Given the description of an element on the screen output the (x, y) to click on. 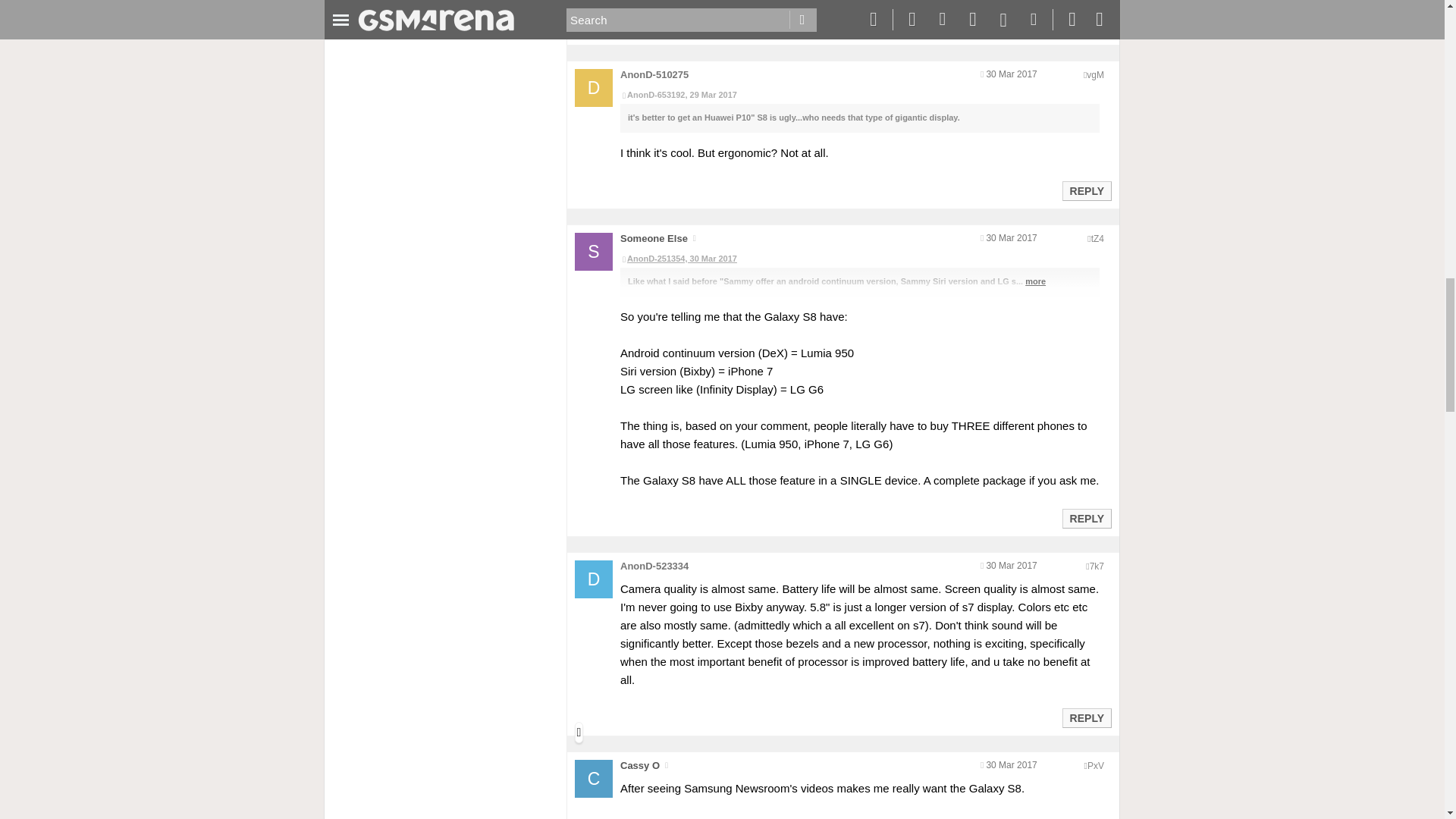
Encoded anonymized location (1094, 74)
Reply to this post (1086, 27)
